Given the description of an element on the screen output the (x, y) to click on. 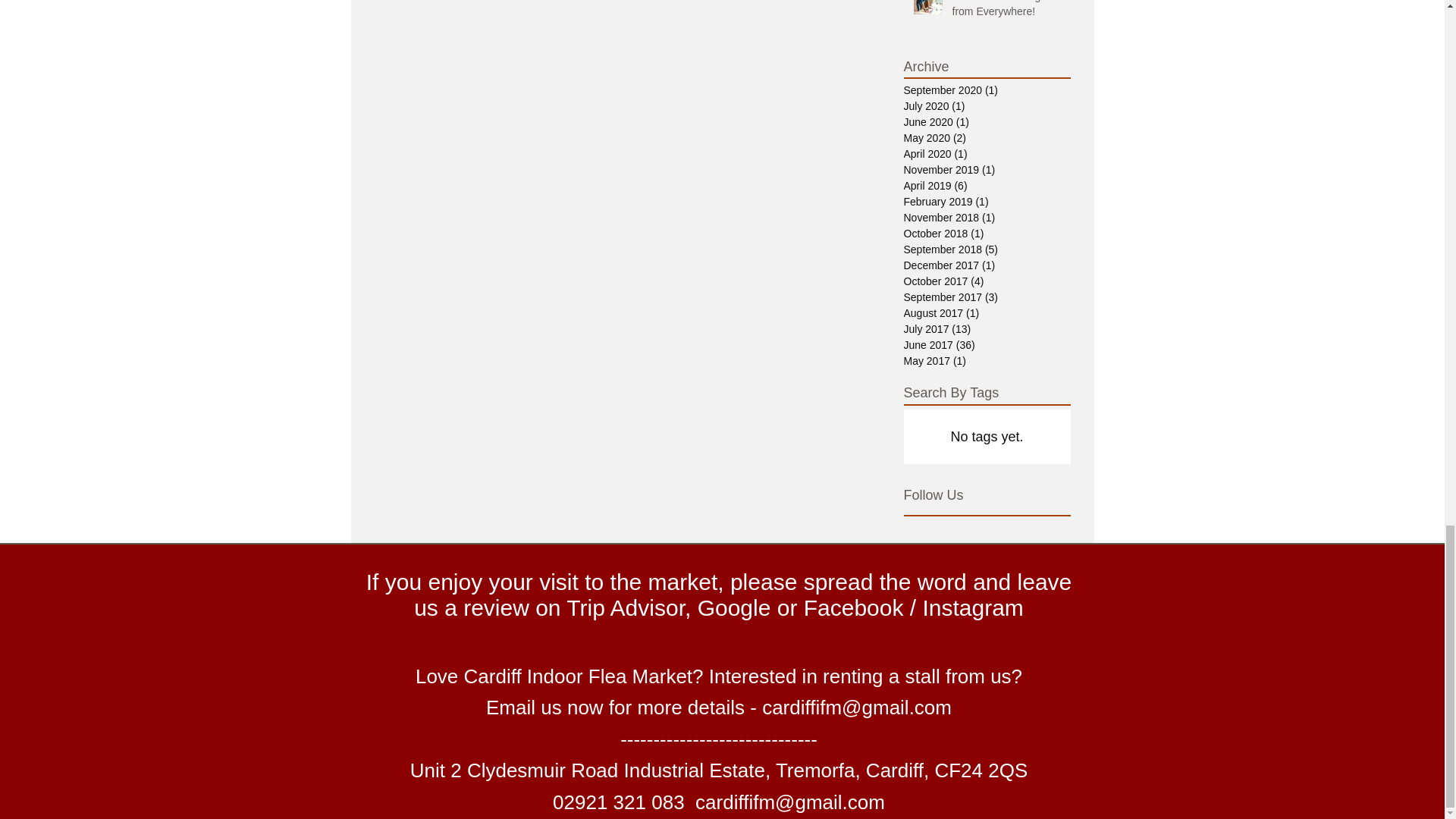
Now You Can Blog from Everywhere! (1006, 12)
